Given the description of an element on the screen output the (x, y) to click on. 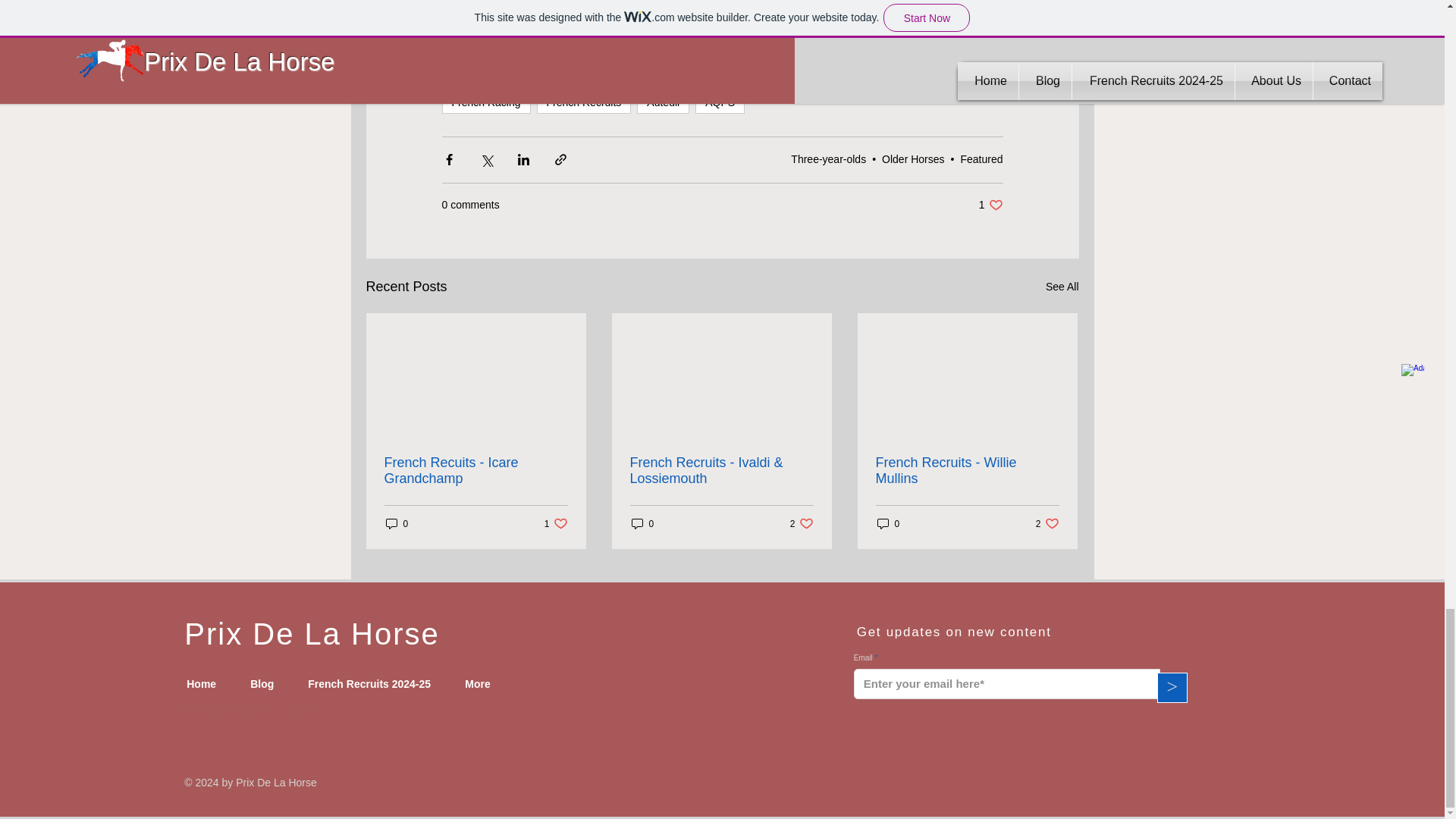
French Racing (485, 101)
Auteuil (662, 101)
See All (1061, 287)
Older Horses (912, 159)
Featured (981, 159)
Three-year-olds (828, 159)
French Recruits (990, 204)
AQPS (584, 101)
